Given the description of an element on the screen output the (x, y) to click on. 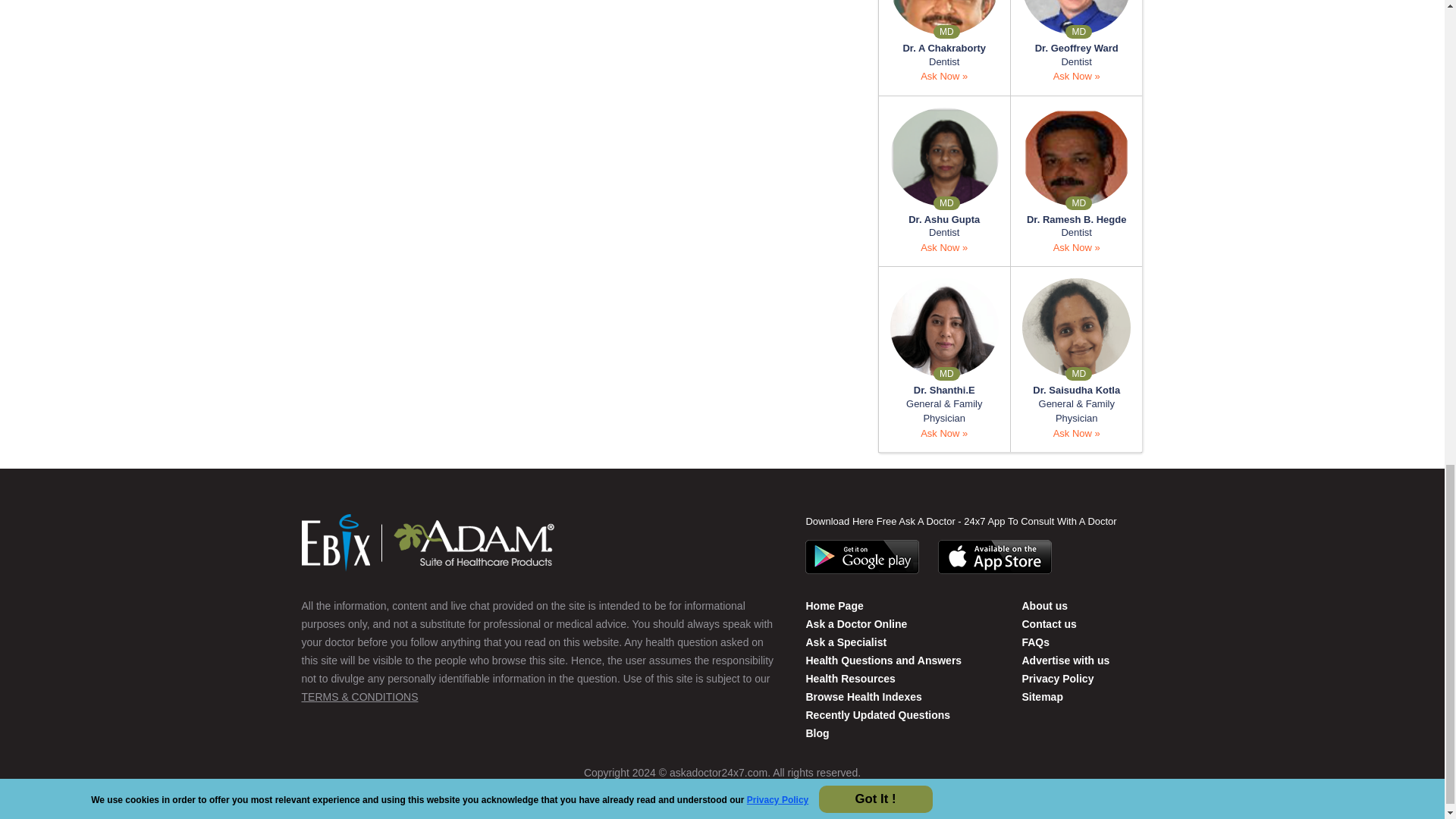
Contact us (1048, 623)
Ask a Specialist (845, 642)
Contact us (1044, 605)
Home Page (834, 605)
Health Blog (816, 733)
Browse Health Indexes (863, 696)
Recently Updated Questions (877, 715)
Health Resources (850, 678)
Advertise with us (1065, 660)
FAQs (1035, 642)
Ask a Doctor Online (856, 623)
Sitemap (1042, 696)
Privacy Policy (1057, 678)
Health Questions and Answers (882, 660)
